Given the description of an element on the screen output the (x, y) to click on. 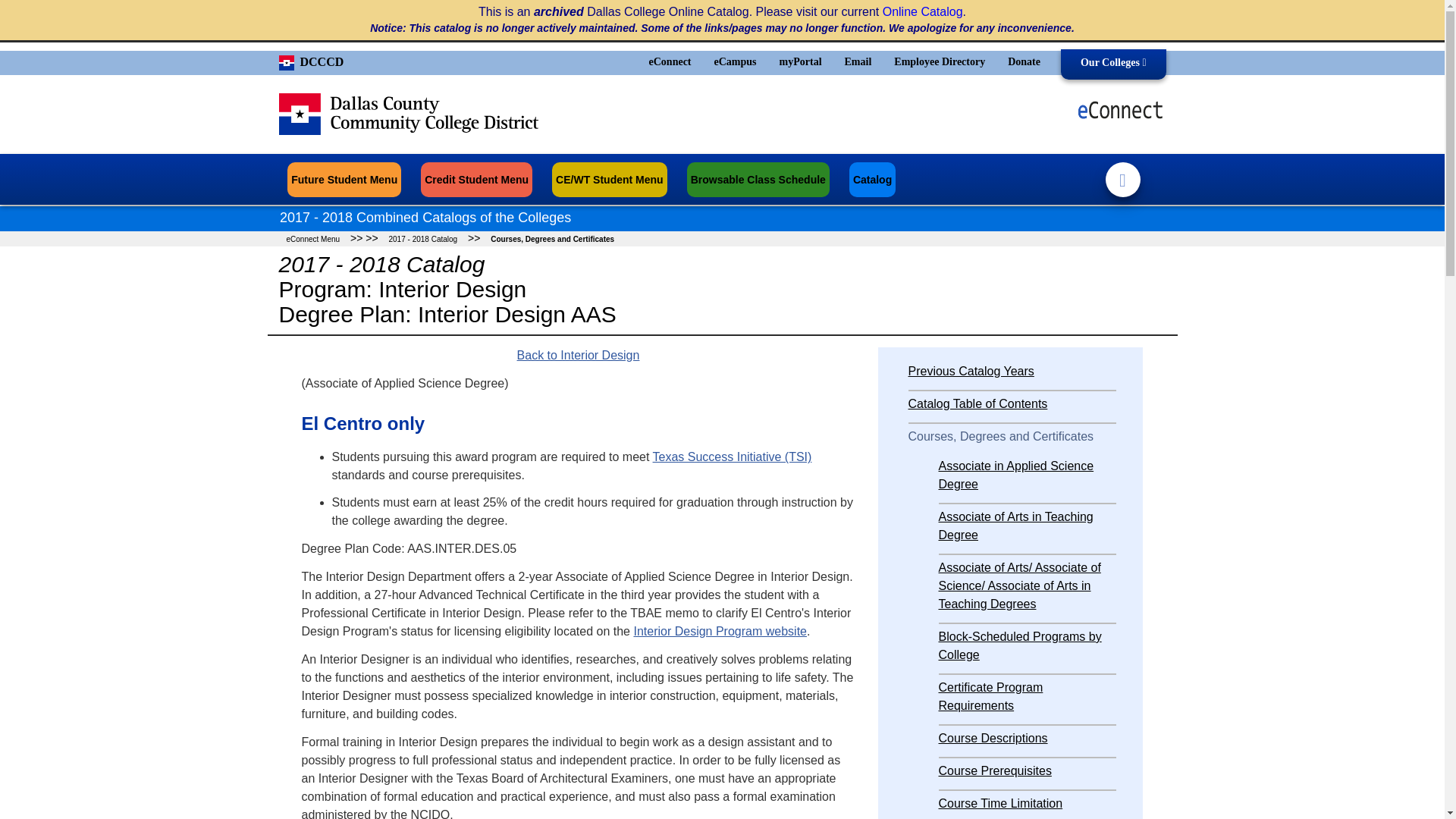
2017 - 2018 Catalog - Table of Contents (422, 239)
eConnect (670, 61)
Donate (1024, 61)
Employee Directory (939, 61)
DCCCD (311, 59)
eConnect Menu (313, 239)
Certificate Program Requirements (991, 695)
Browsable Class Schedule (757, 178)
Email (858, 61)
myPortal (800, 61)
